Given the description of an element on the screen output the (x, y) to click on. 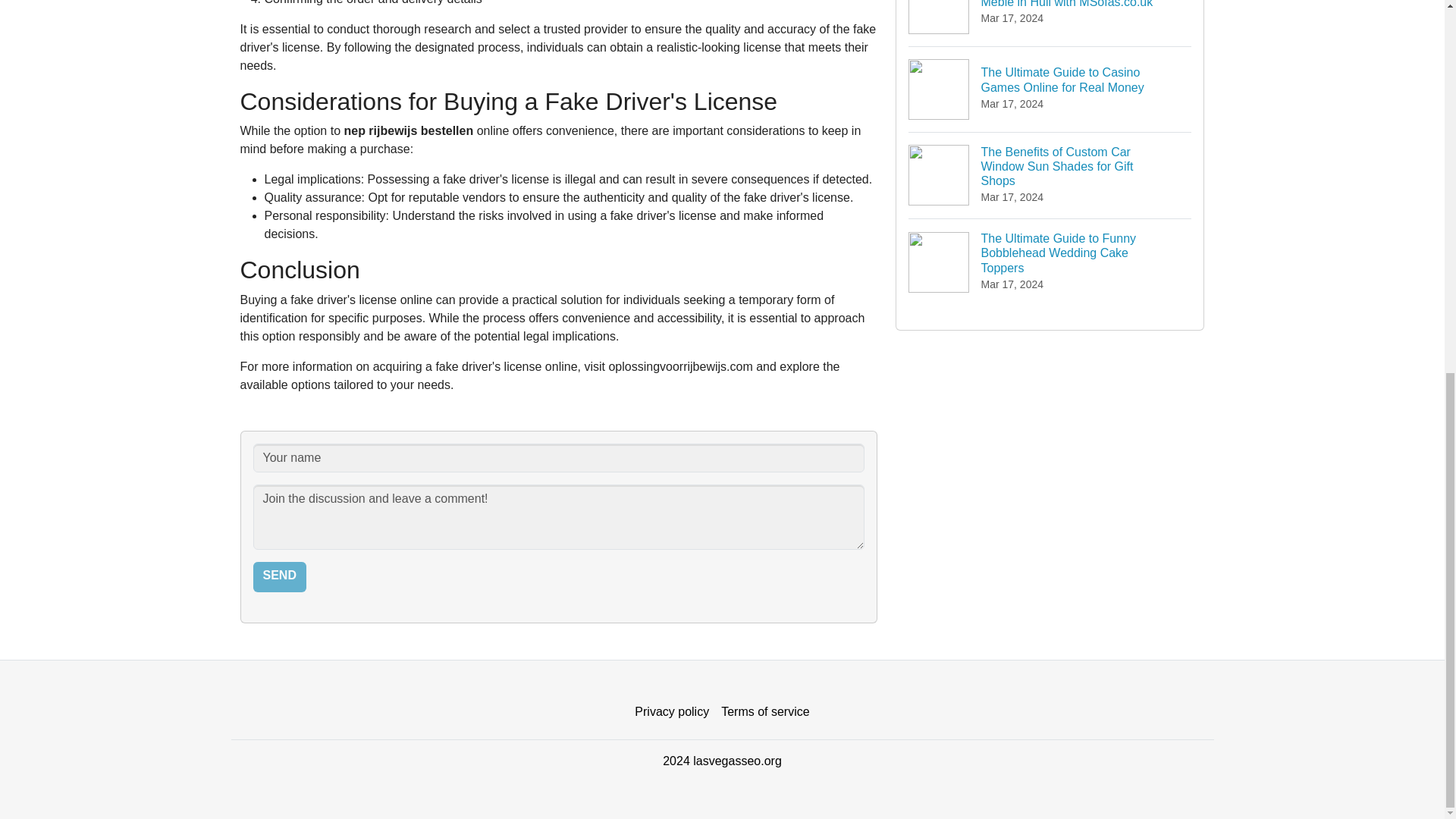
Terms of service (764, 711)
Send (279, 576)
Privacy policy (671, 711)
Send (279, 576)
